Given the description of an element on the screen output the (x, y) to click on. 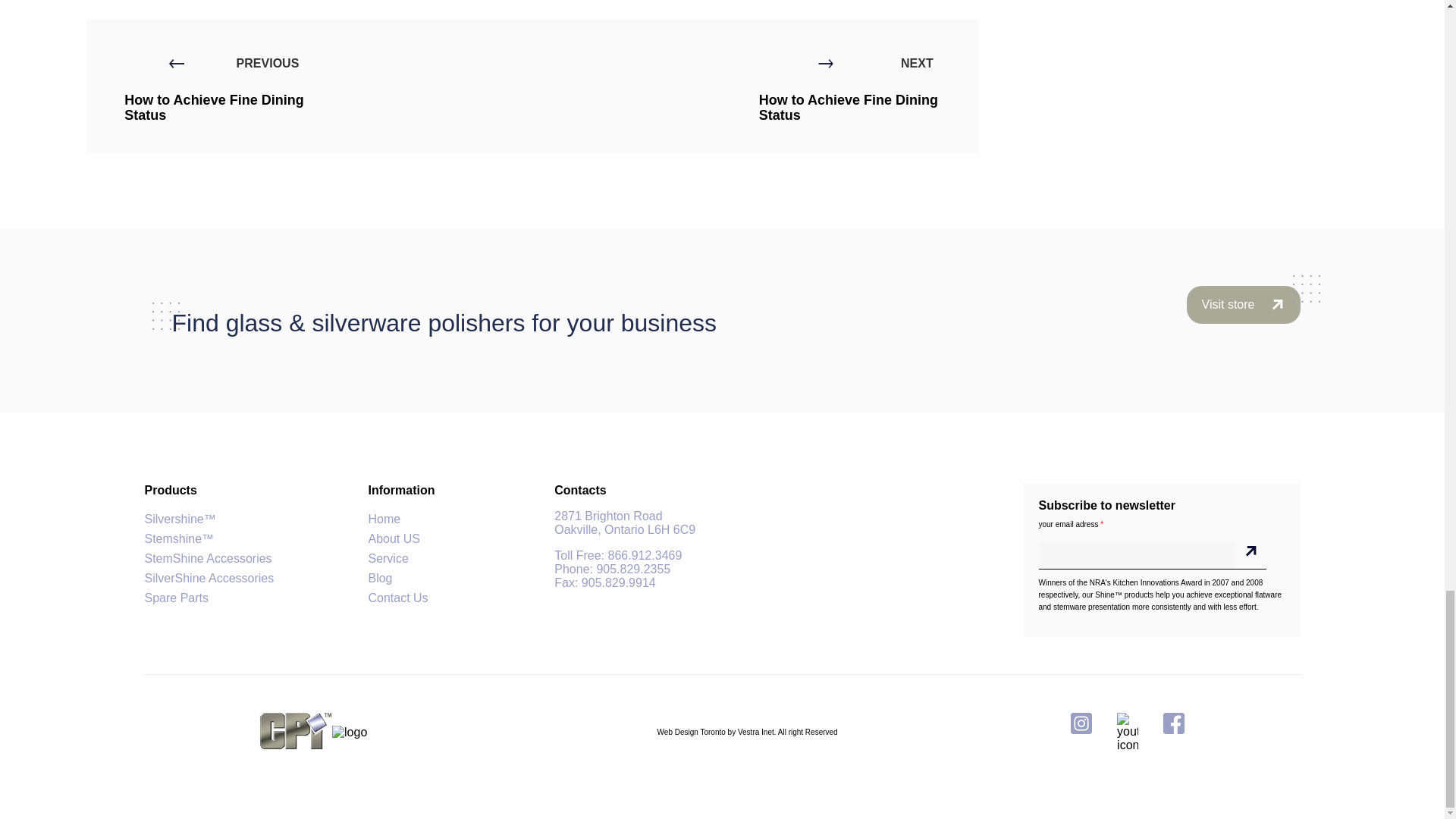
Visit store (1243, 319)
Spare Parts (176, 597)
SilverShine Accessories (208, 577)
StemShine Accessories (207, 558)
Visit store (1243, 304)
